Given the description of an element on the screen output the (x, y) to click on. 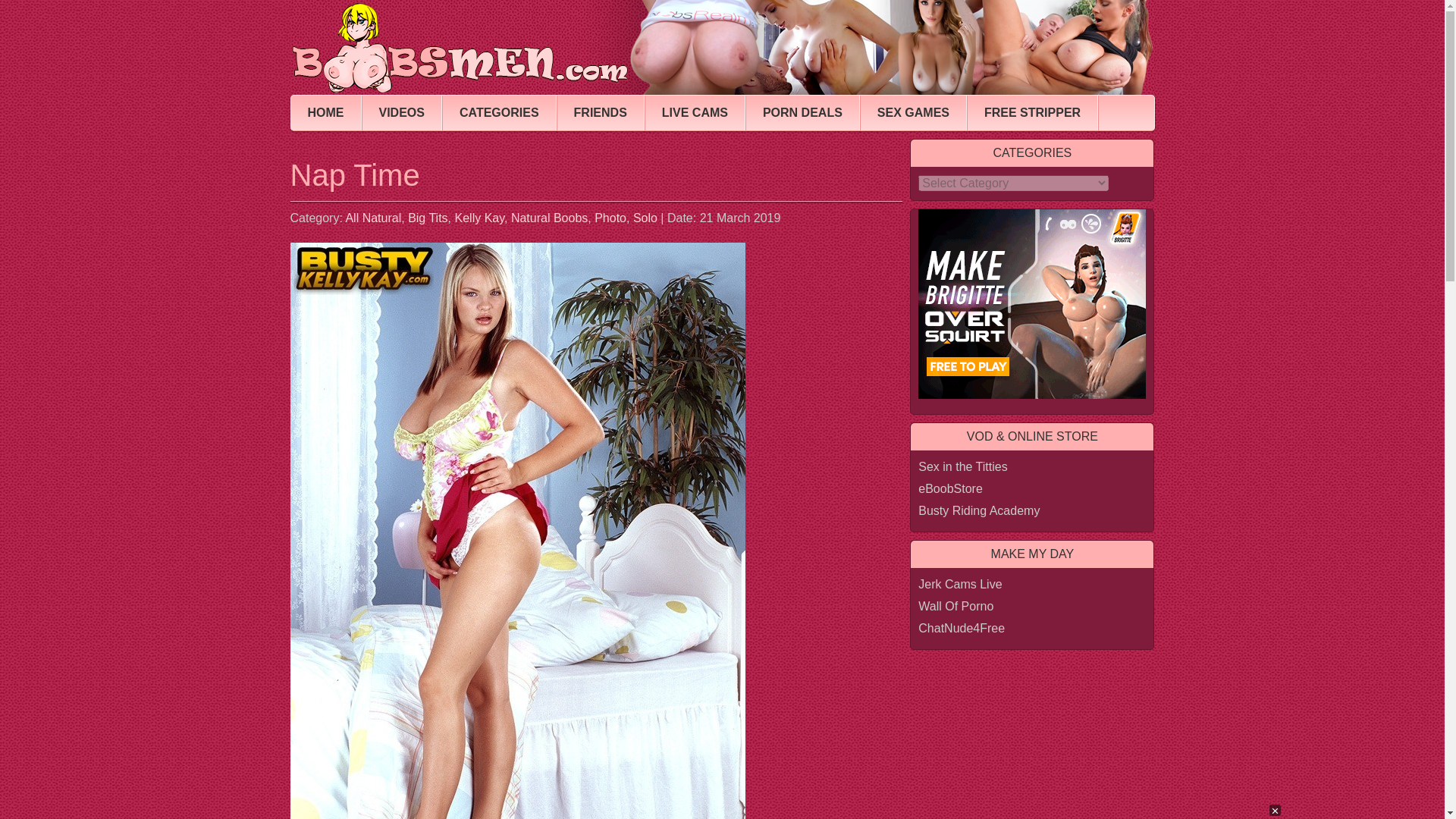
FREE STRIPPER (1032, 112)
CATEGORIES (499, 112)
FRIENDS (600, 112)
Free Adult Live Webcams! (961, 627)
LIVE CAMS (694, 112)
HOME (326, 112)
SEX GAMES (913, 112)
Natural Boobs (549, 217)
Big Tits (426, 217)
PORN DEALS (802, 112)
